Given the description of an element on the screen output the (x, y) to click on. 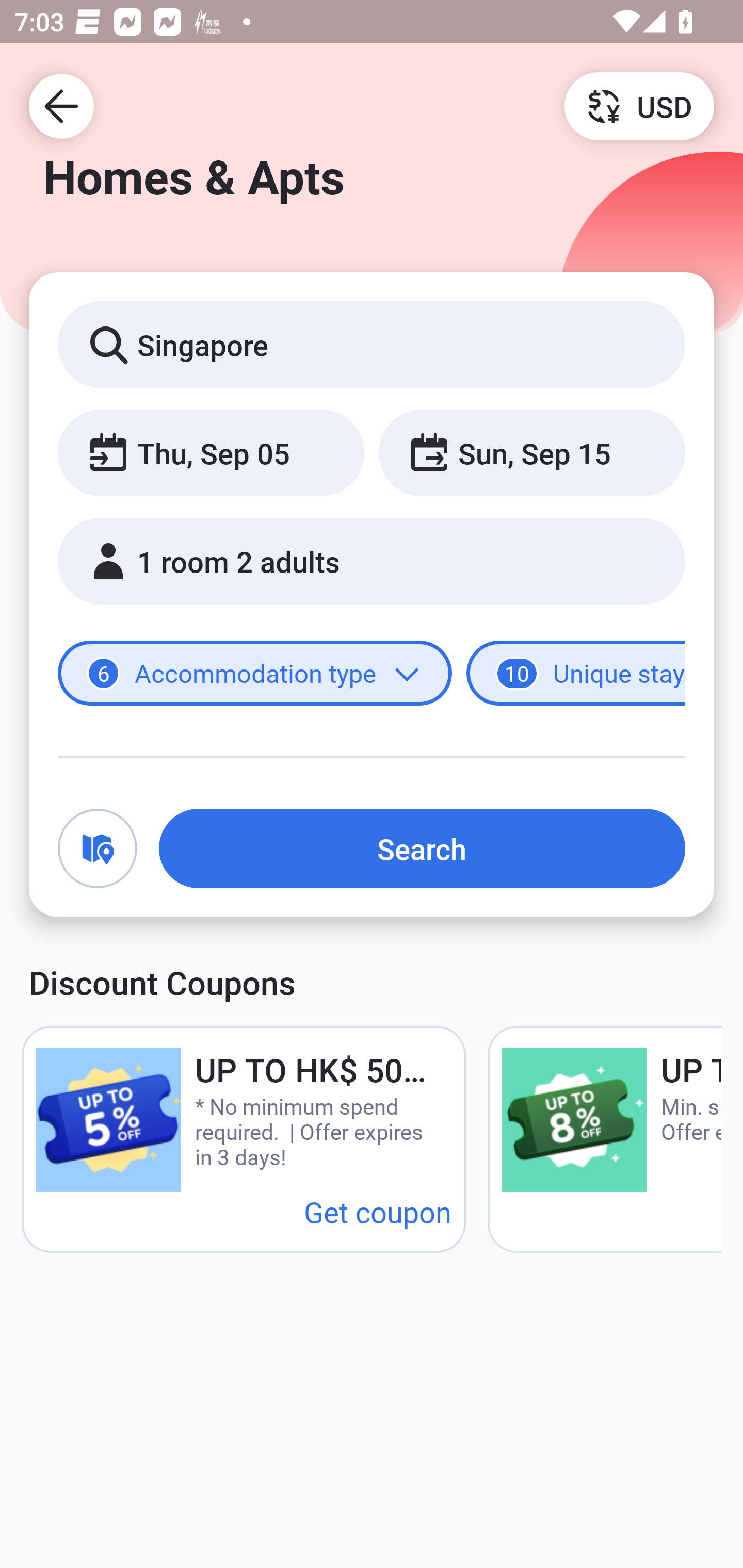
USD (639, 105)
Singapore (371, 344)
Thu, Sep 05 (210, 452)
Sun, Sep 15 (531, 452)
1 room 2 adults (371, 561)
6 Accommodation type (254, 673)
10 Unique stays (575, 673)
Search (422, 848)
Get coupon (377, 1211)
